Given the description of an element on the screen output the (x, y) to click on. 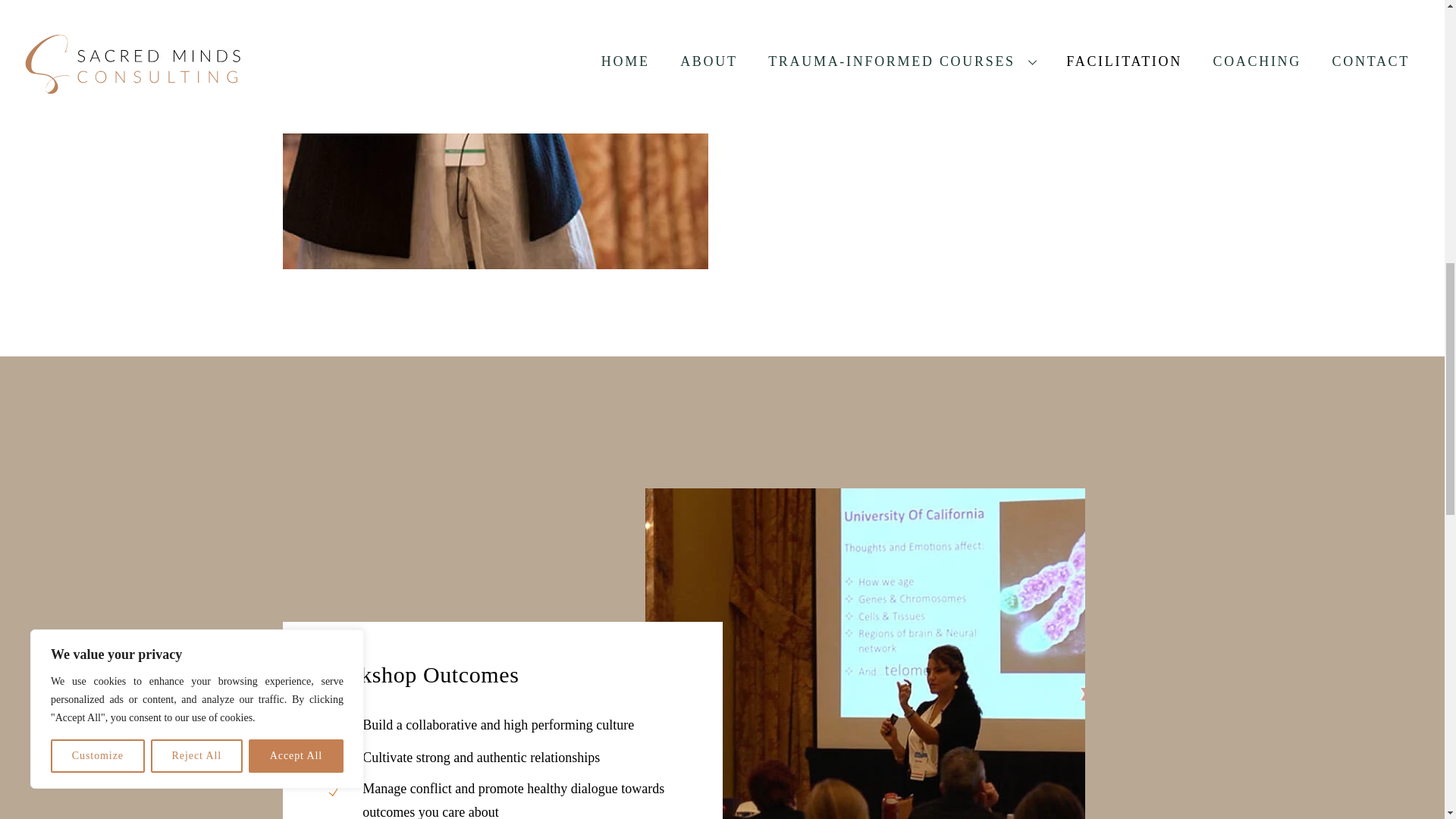
Submit Inquiry (950, 66)
